Given the description of an element on the screen output the (x, y) to click on. 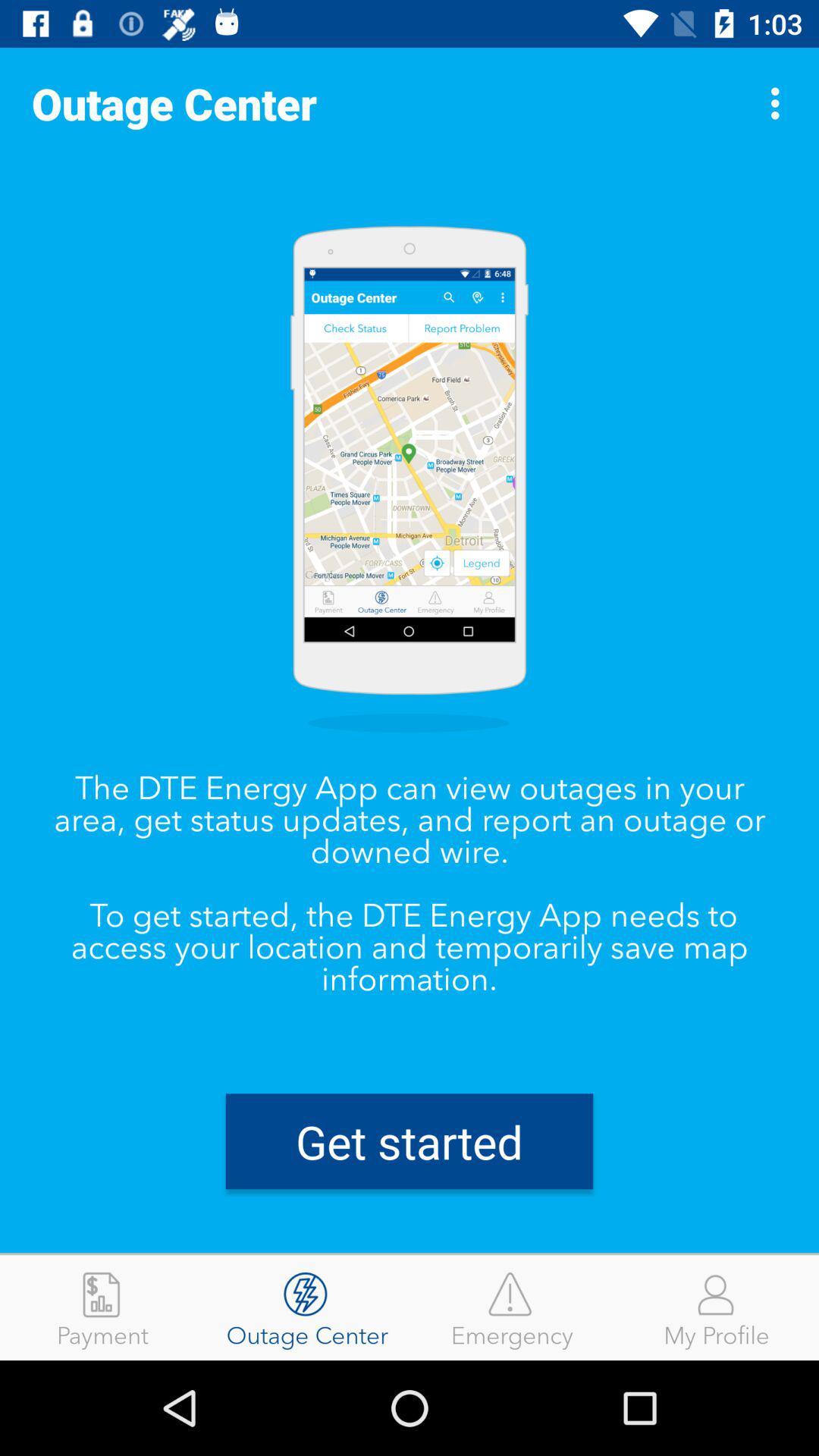
turn on the item next to the my profile item (511, 1307)
